Given the description of an element on the screen output the (x, y) to click on. 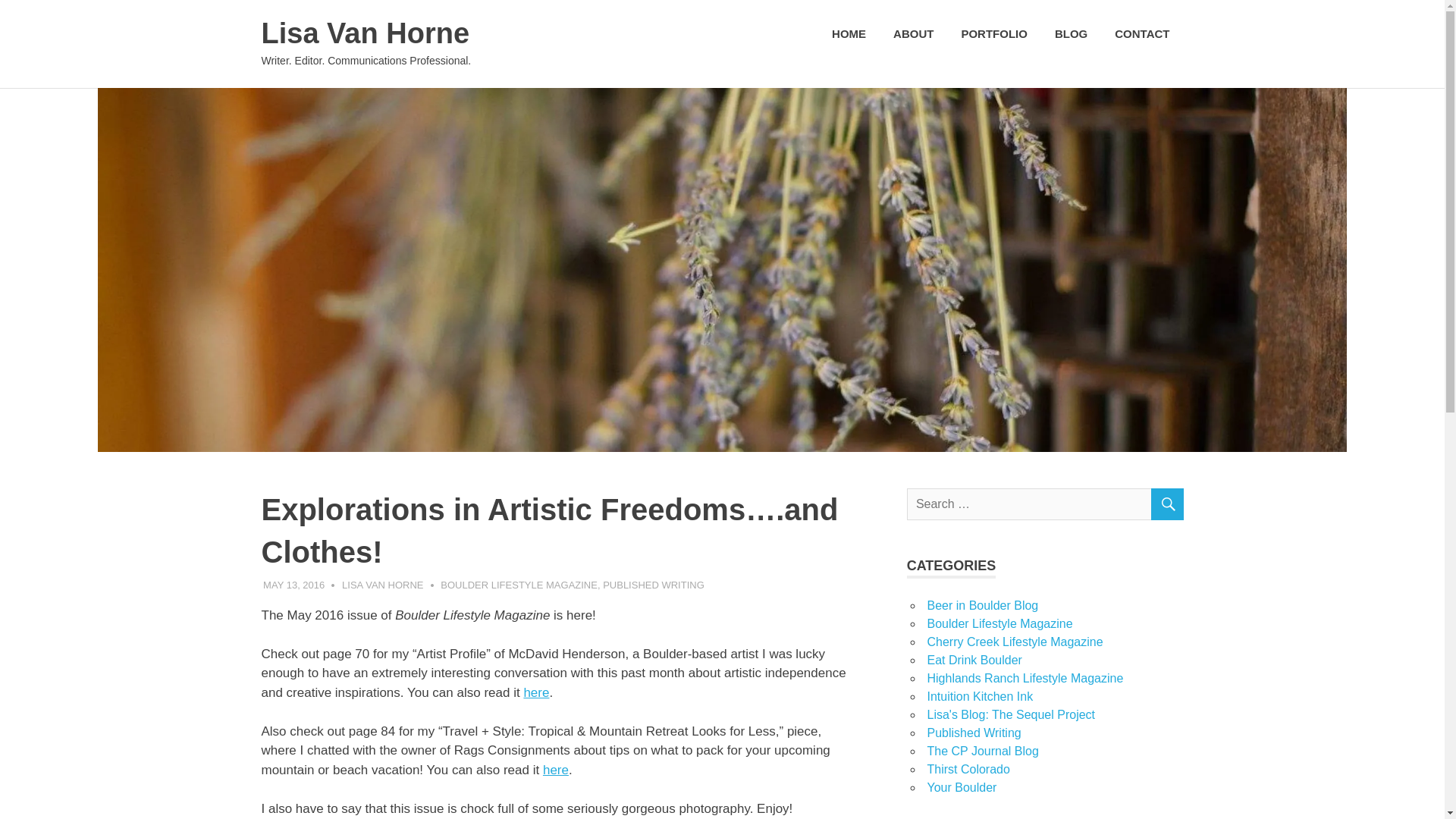
BOULDER LIFESTYLE MAGAZINE (518, 584)
Eat Drink Boulder (974, 659)
here (556, 769)
Lisa's Blog: The Sequel Project (1010, 714)
The CP Journal Blog (982, 750)
BLOG (1070, 34)
Intuition Kitchen Ink (979, 696)
CONTACT (1141, 34)
Thirst Colorado (967, 768)
Beer in Boulder Blog (982, 604)
Lisa Van Horne (364, 33)
View all posts by Lisa Van Horne (382, 584)
3:11 am (293, 584)
PORTFOLIO (994, 34)
Cherry Creek Lifestyle Magazine (1014, 641)
